Given the description of an element on the screen output the (x, y) to click on. 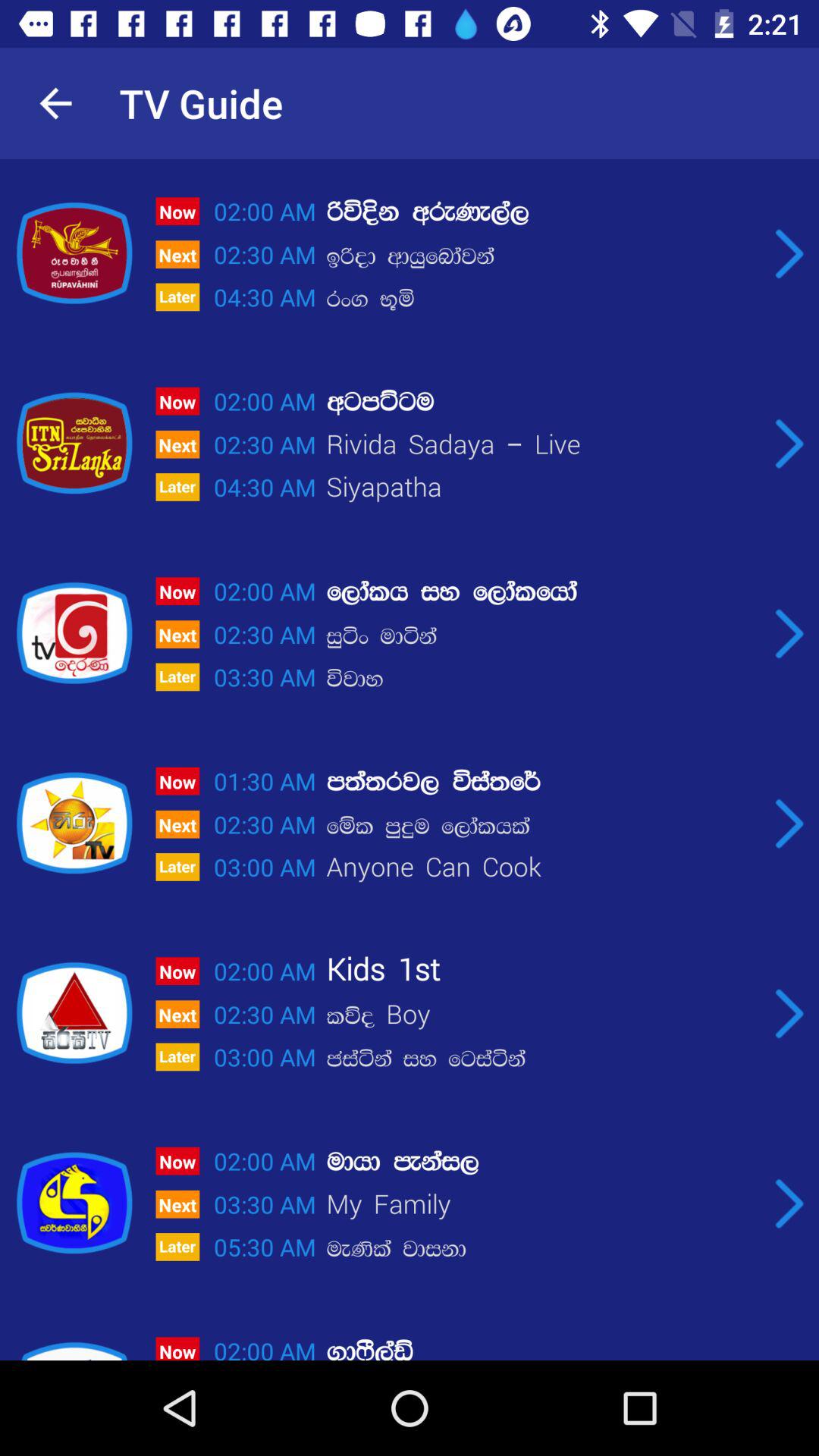
press the item next to the 01:30 am icon (542, 781)
